Given the description of an element on the screen output the (x, y) to click on. 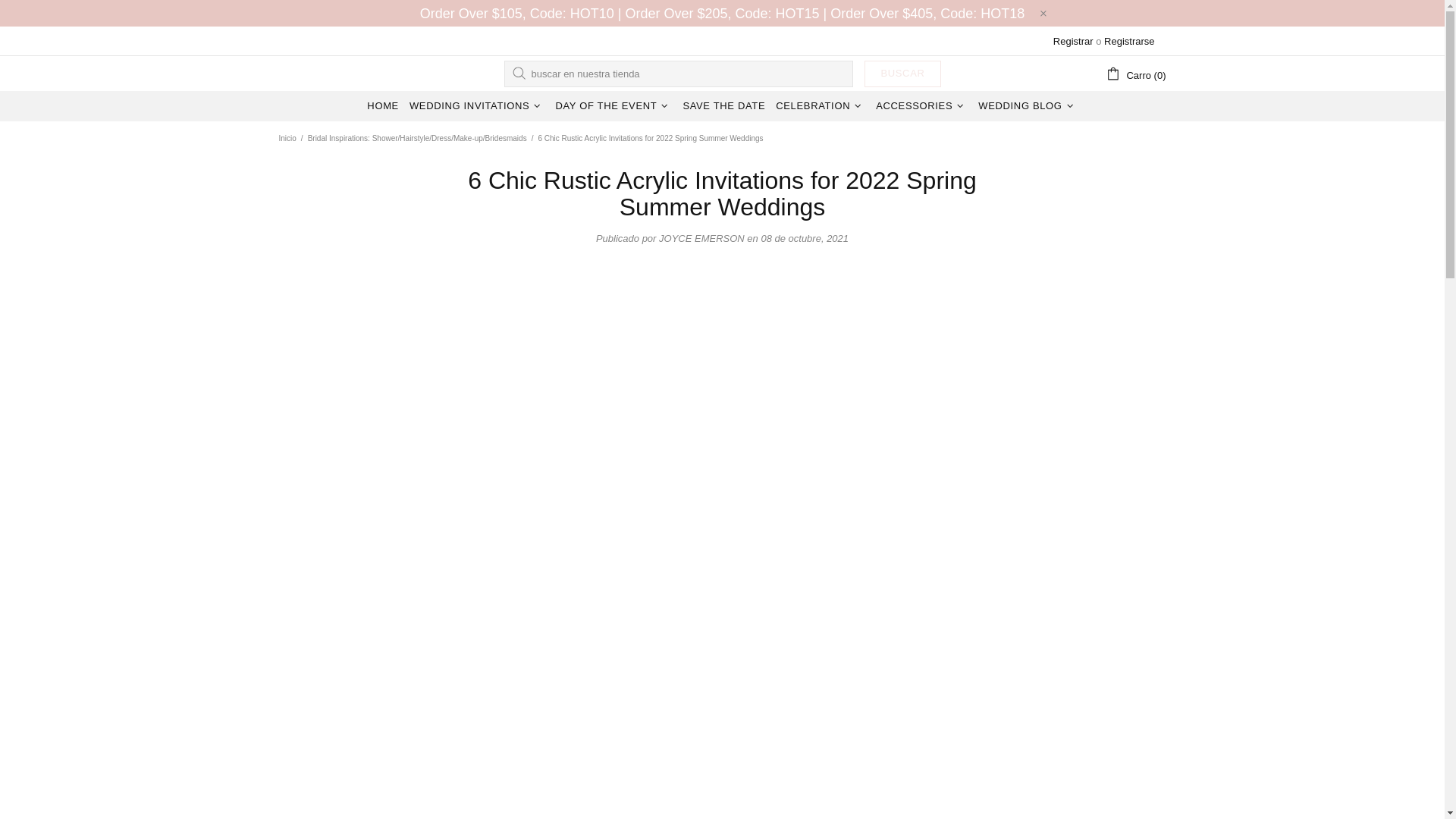
WEDDING INVITATIONS (477, 105)
Registrarse (1128, 41)
DAY OF THE EVENT (613, 105)
SAVE THE DATE (723, 105)
Registrar (1072, 41)
Clear Wedding Invites (317, 73)
BUSCAR (902, 73)
HOME (382, 105)
CELEBRATION (820, 105)
ACCESSORIES (921, 105)
